Given the description of an element on the screen output the (x, y) to click on. 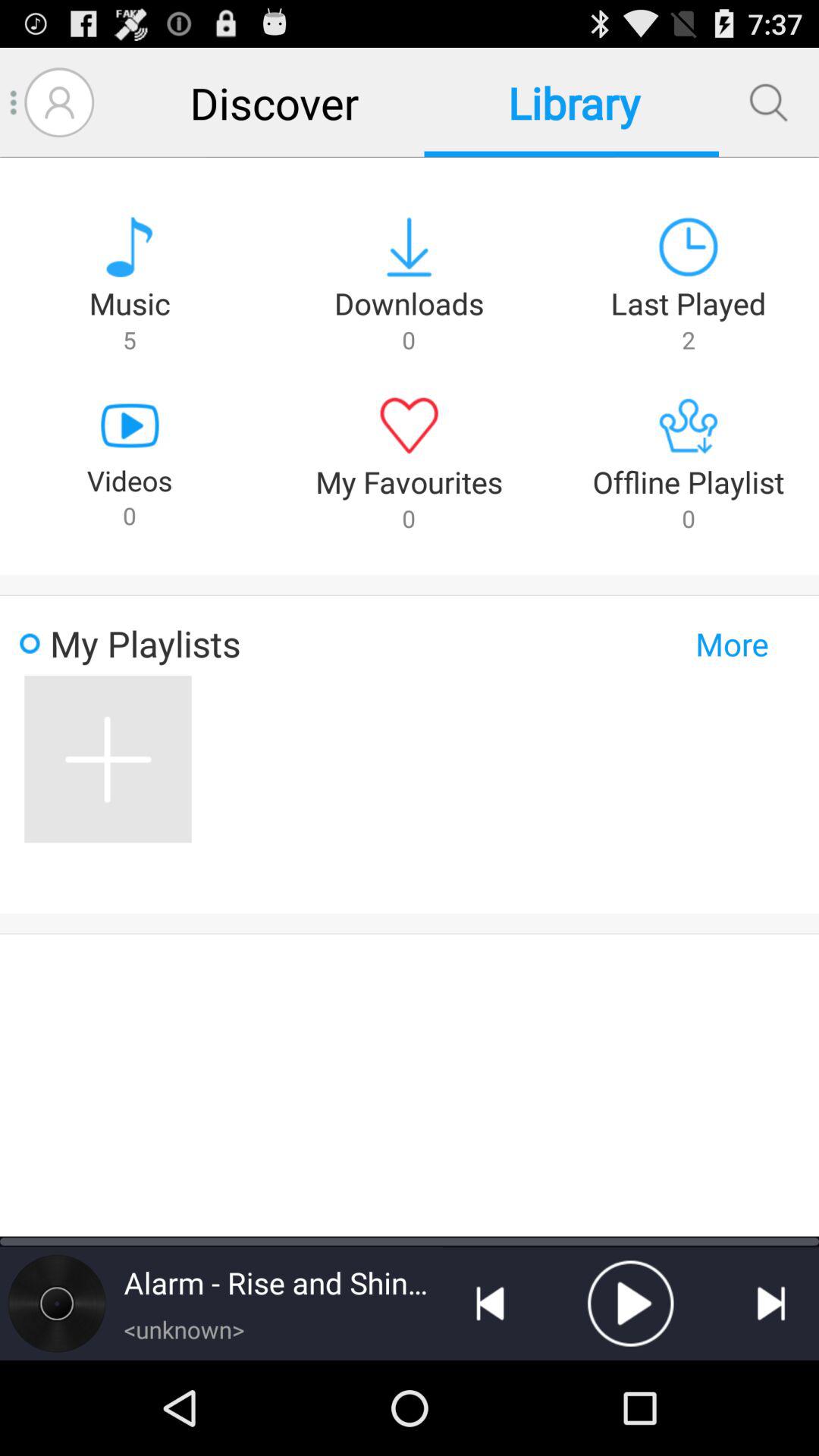
open item next to library (768, 102)
